Given the description of an element on the screen output the (x, y) to click on. 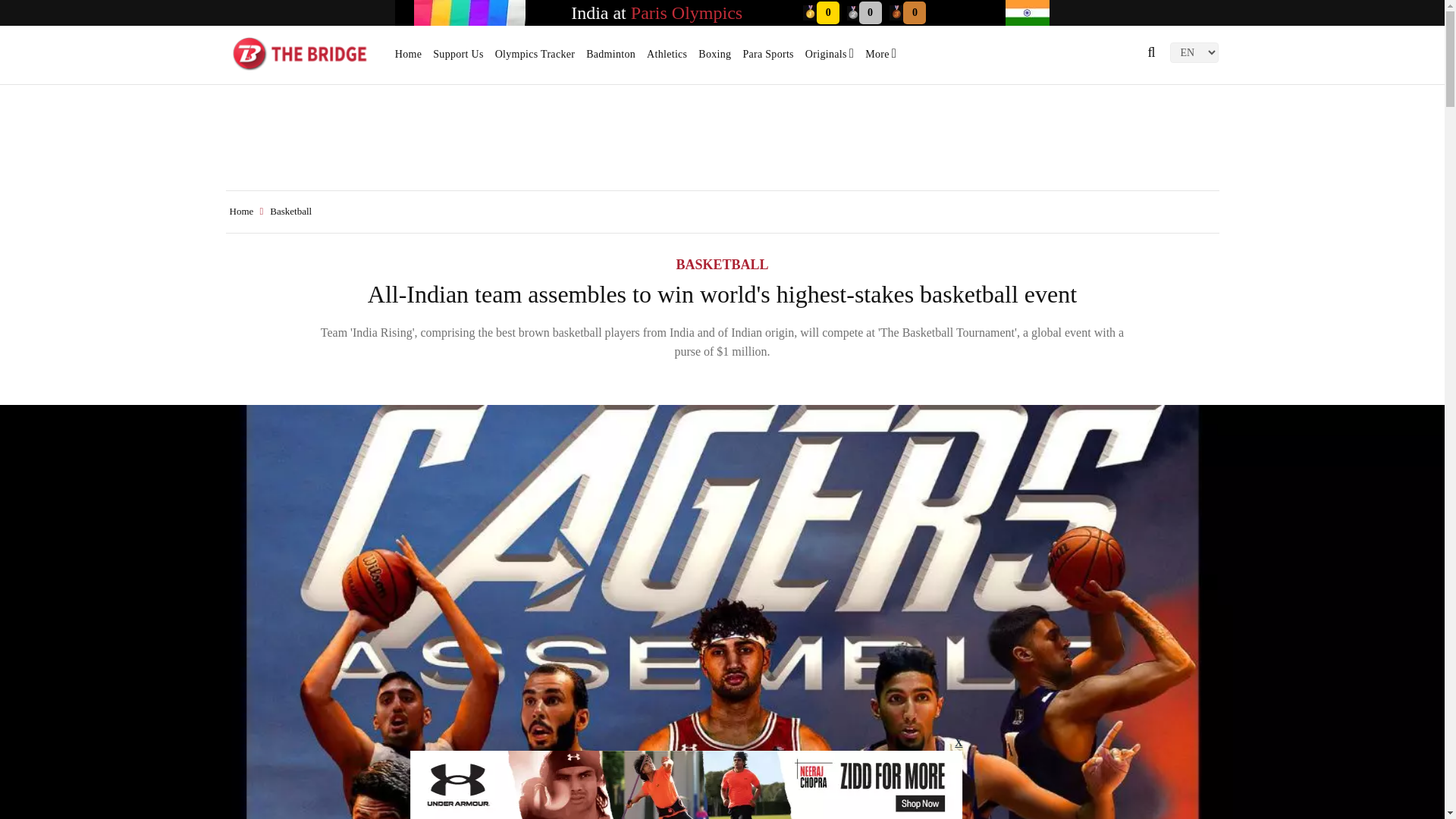
Paris Olympics (686, 12)
3rd party ad content (721, 140)
Para Sports (767, 59)
Originals (829, 59)
Support Us (457, 59)
Olympics Tracker (535, 59)
Badminton (610, 59)
